Given the description of an element on the screen output the (x, y) to click on. 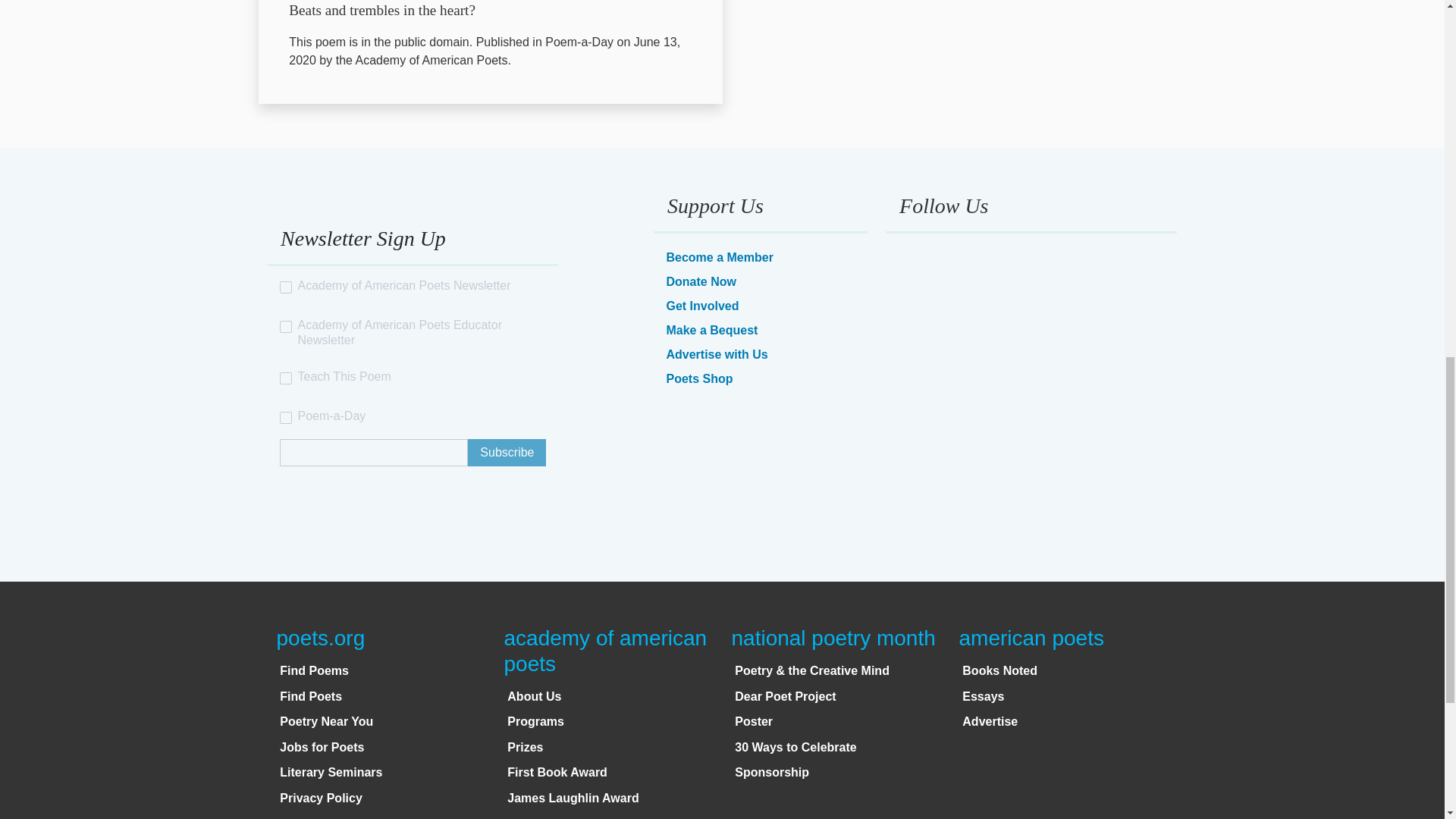
Privacy Policy (320, 797)
Become a Member (719, 256)
Subscribe (506, 452)
Donate Now (700, 281)
Make a Bequest (711, 329)
Literary Seminars (330, 771)
Press Center (317, 818)
Jobs for Poets (321, 747)
Get Involved (701, 305)
Advertise with Us (716, 354)
